Given the description of an element on the screen output the (x, y) to click on. 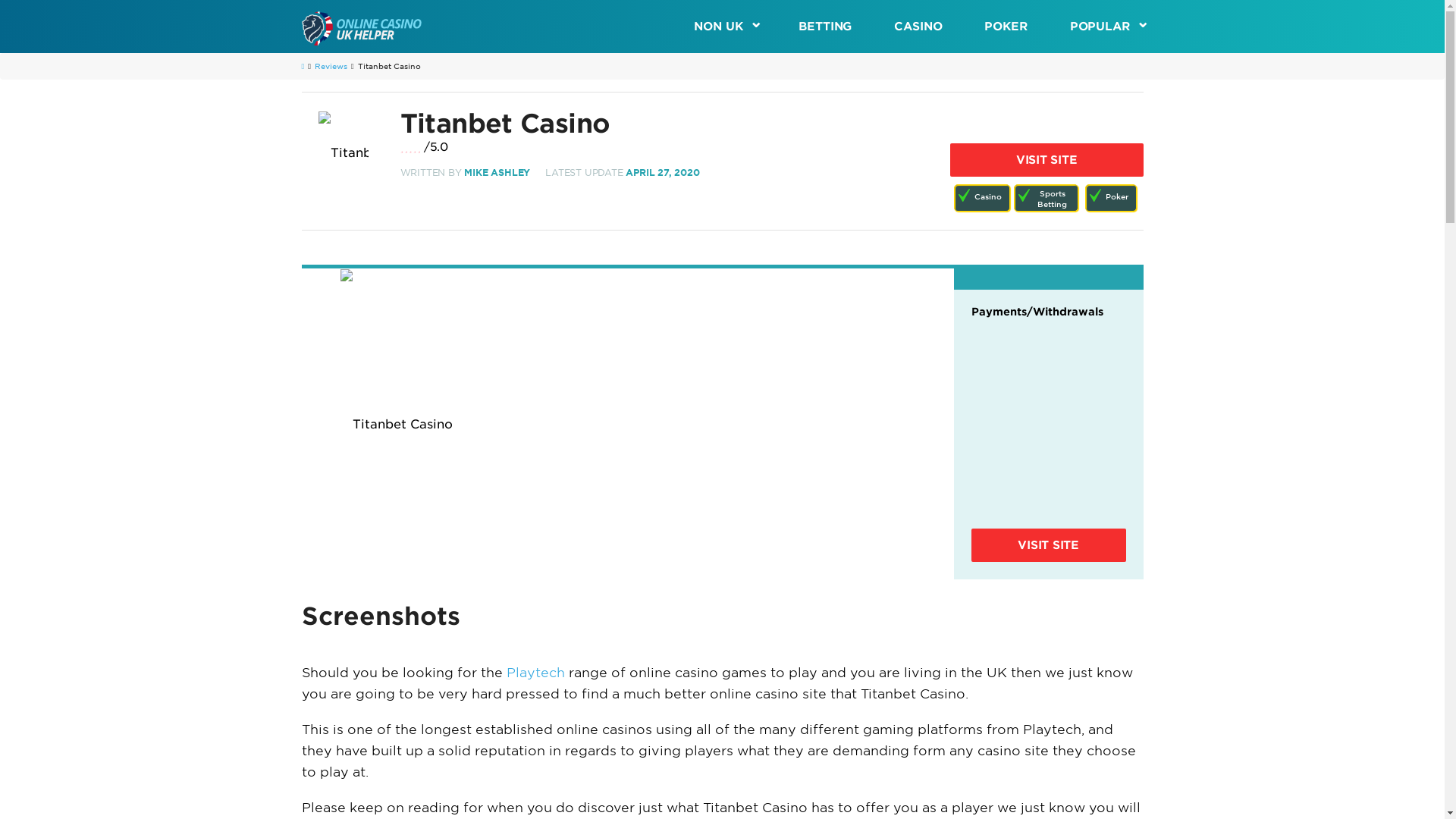
VISIT SITE (1048, 544)
Playtech (535, 672)
POPULAR (1095, 26)
Reviews (330, 65)
VISIT SITE (1045, 159)
Posts by Mike Ashley (496, 172)
NON UK (735, 26)
Reviews (330, 65)
BETTING (824, 26)
MIKE ASHLEY (496, 172)
CASINO (917, 26)
POKER (1005, 26)
